Given the description of an element on the screen output the (x, y) to click on. 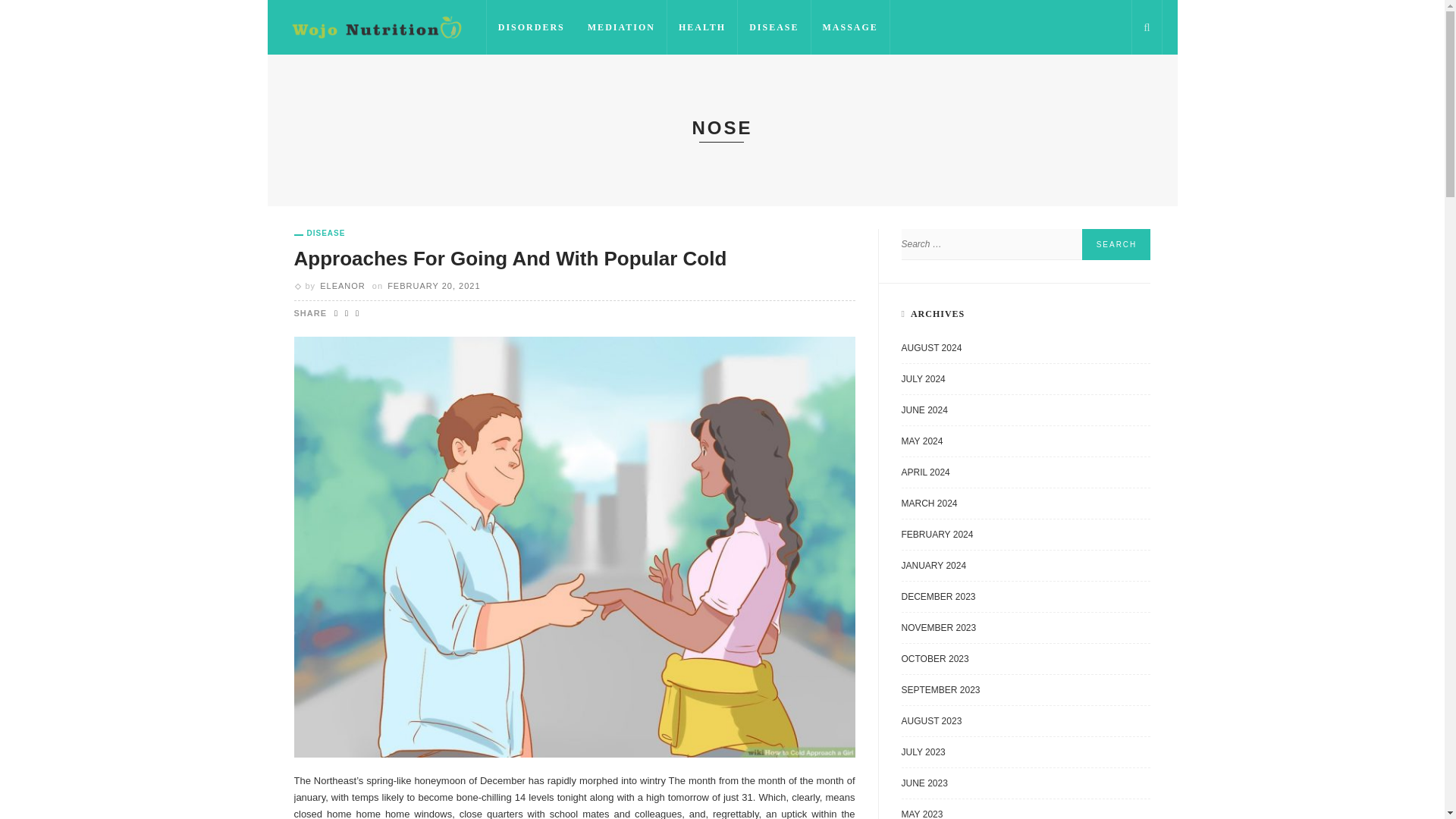
Wojo Nutrition (376, 26)
Disease (320, 233)
Approaches for Going and With popular Cold (510, 258)
Search (1115, 244)
Approaches for Going and With popular Cold (575, 545)
Search (1115, 244)
